Given the description of an element on the screen output the (x, y) to click on. 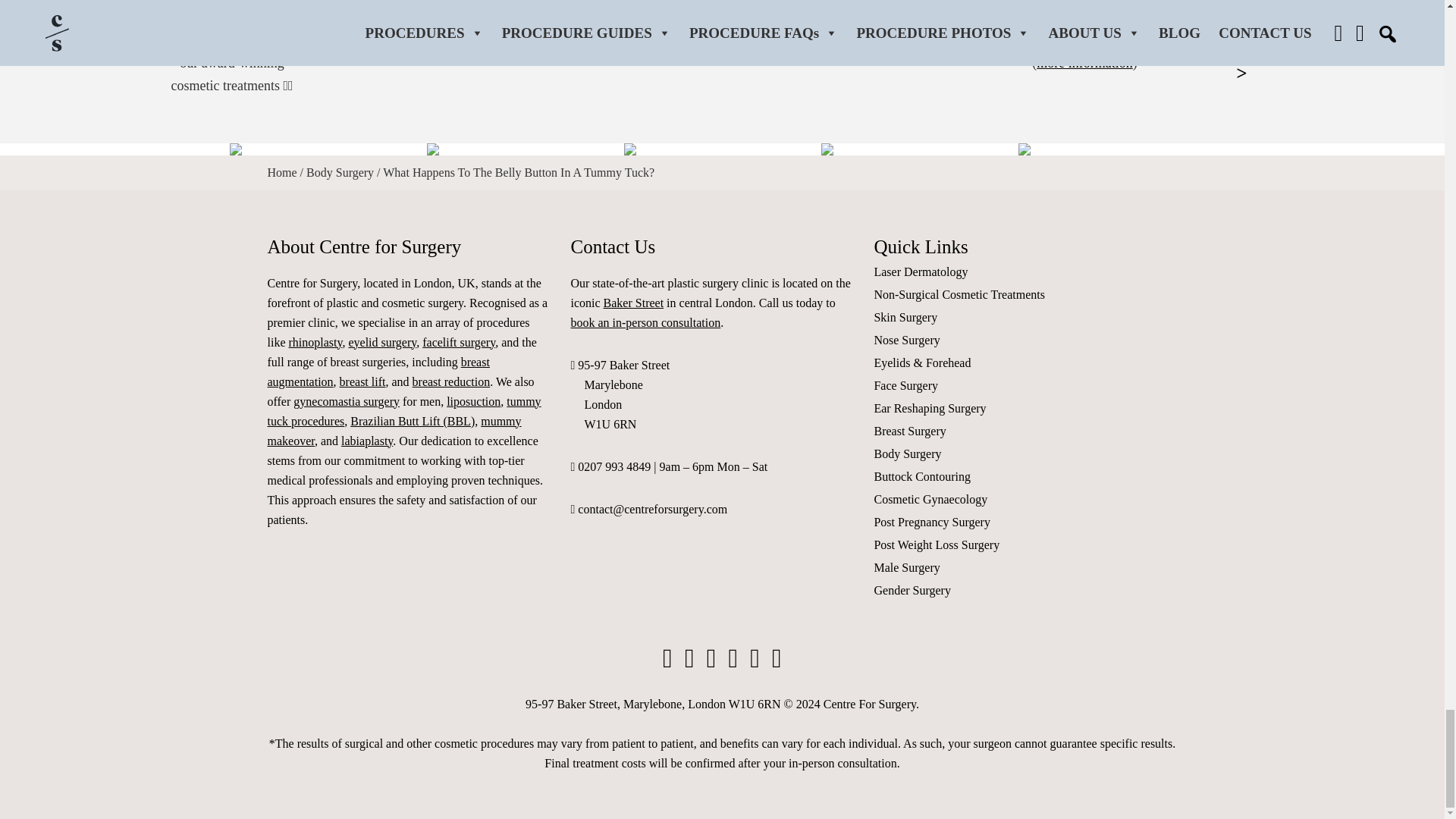
1 (1006, 18)
